Given the description of an element on the screen output the (x, y) to click on. 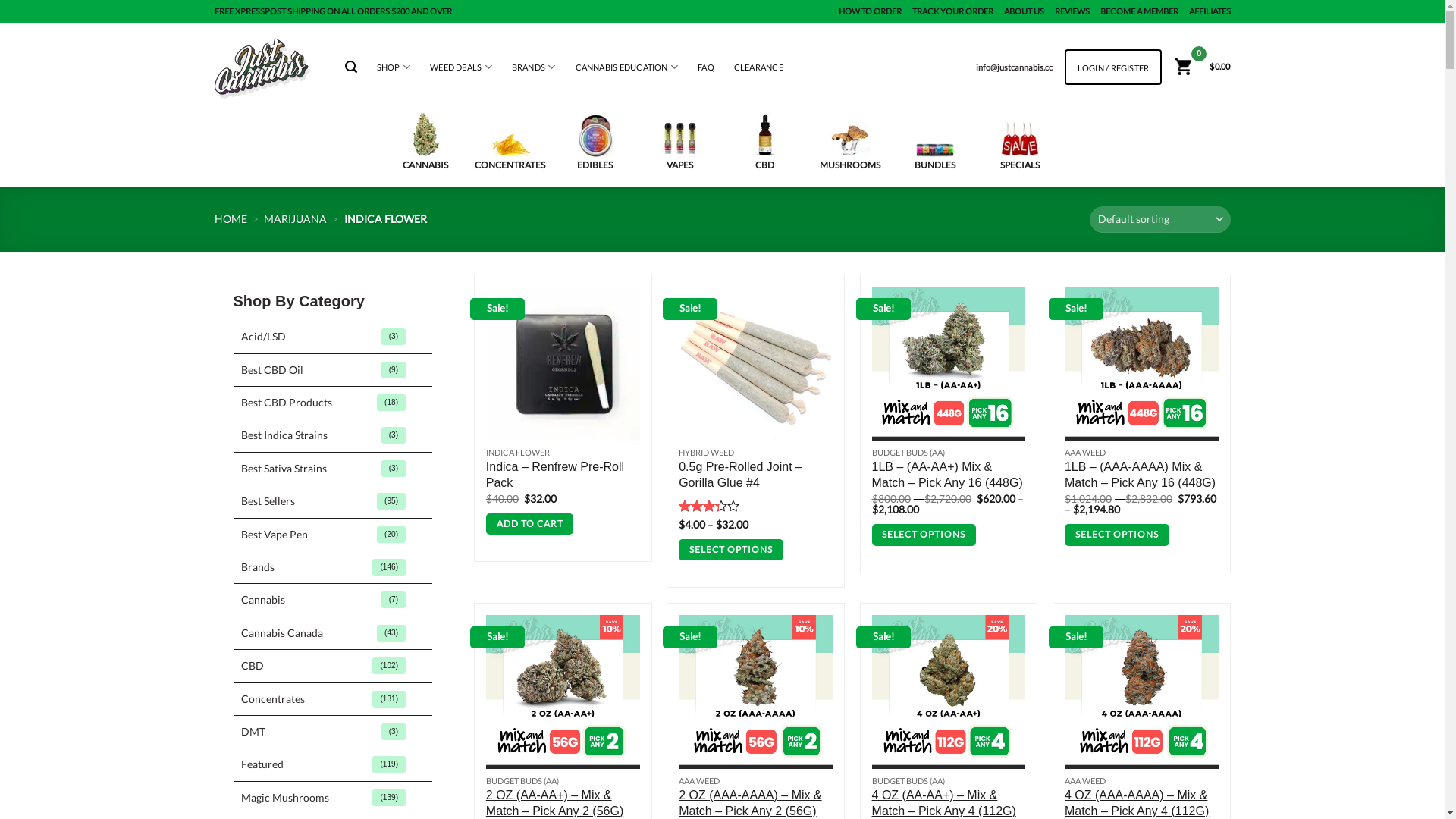
Acid/LSD Element type: text (333, 336)
CBD Element type: text (333, 665)
Best CBD Products Element type: text (333, 402)
WEED DEALS Element type: text (460, 66)
Brands Element type: text (333, 567)
Best Sellers Element type: text (333, 501)
$0.00
0 Element type: text (1200, 66)
EDIBLES Element type: text (594, 142)
SELECT OPTIONS Element type: text (1116, 535)
MUSHROOMS Element type: text (849, 147)
Concentrates Element type: text (333, 698)
CANNABIS Element type: text (424, 141)
HOW TO ORDER Element type: text (869, 11)
TRACK YOUR ORDER Element type: text (951, 11)
BUNDLES Element type: text (933, 155)
Featured Element type: text (333, 764)
ABOUT US Element type: text (1024, 11)
Cannabis Element type: text (333, 599)
SPECIALS Element type: text (1018, 146)
Best Sativa Strains Element type: text (333, 468)
CANNABIS EDUCATION Element type: text (626, 66)
CLEARANCE Element type: text (758, 66)
LOGIN / REGISTER Element type: text (1113, 67)
Magic Mushrooms Element type: text (333, 797)
Best Vape Pen Element type: text (333, 534)
SELECT OPTIONS Element type: text (924, 535)
CBD Element type: text (764, 142)
SELECT OPTIONS Element type: text (730, 550)
DMT Element type: text (333, 731)
VAPES Element type: text (679, 145)
BECOME A MEMBER Element type: text (1138, 11)
Best Indica Strains Element type: text (333, 435)
AFFILIATES Element type: text (1209, 11)
info@justcannabis.cc Element type: text (1013, 67)
HOME Element type: text (229, 218)
Cannabis Canada Element type: text (333, 633)
FAQ Element type: text (705, 66)
BRANDS Element type: text (533, 66)
CONCENTRATES Element type: text (509, 151)
Best CBD Oil Element type: text (333, 369)
REVIEWS Element type: text (1071, 11)
SHOP Element type: text (393, 66)
MARIJUANA Element type: text (294, 218)
ADD TO CART Element type: text (530, 524)
